Given the description of an element on the screen output the (x, y) to click on. 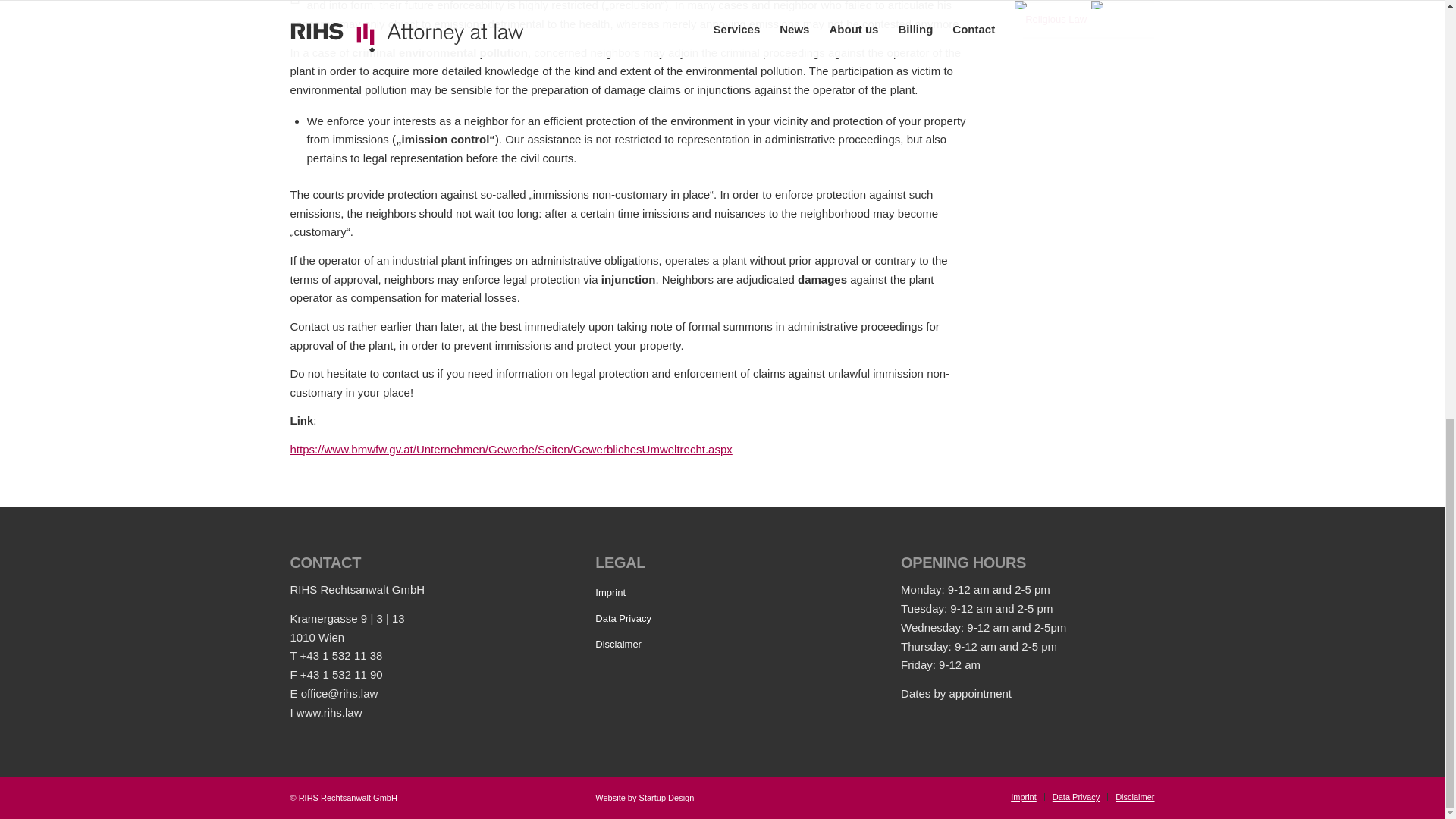
Religious Law (1088, 20)
Data Privacy (721, 619)
Imprint (721, 593)
International Law (1088, 1)
Disclaimer (721, 645)
